Given the description of an element on the screen output the (x, y) to click on. 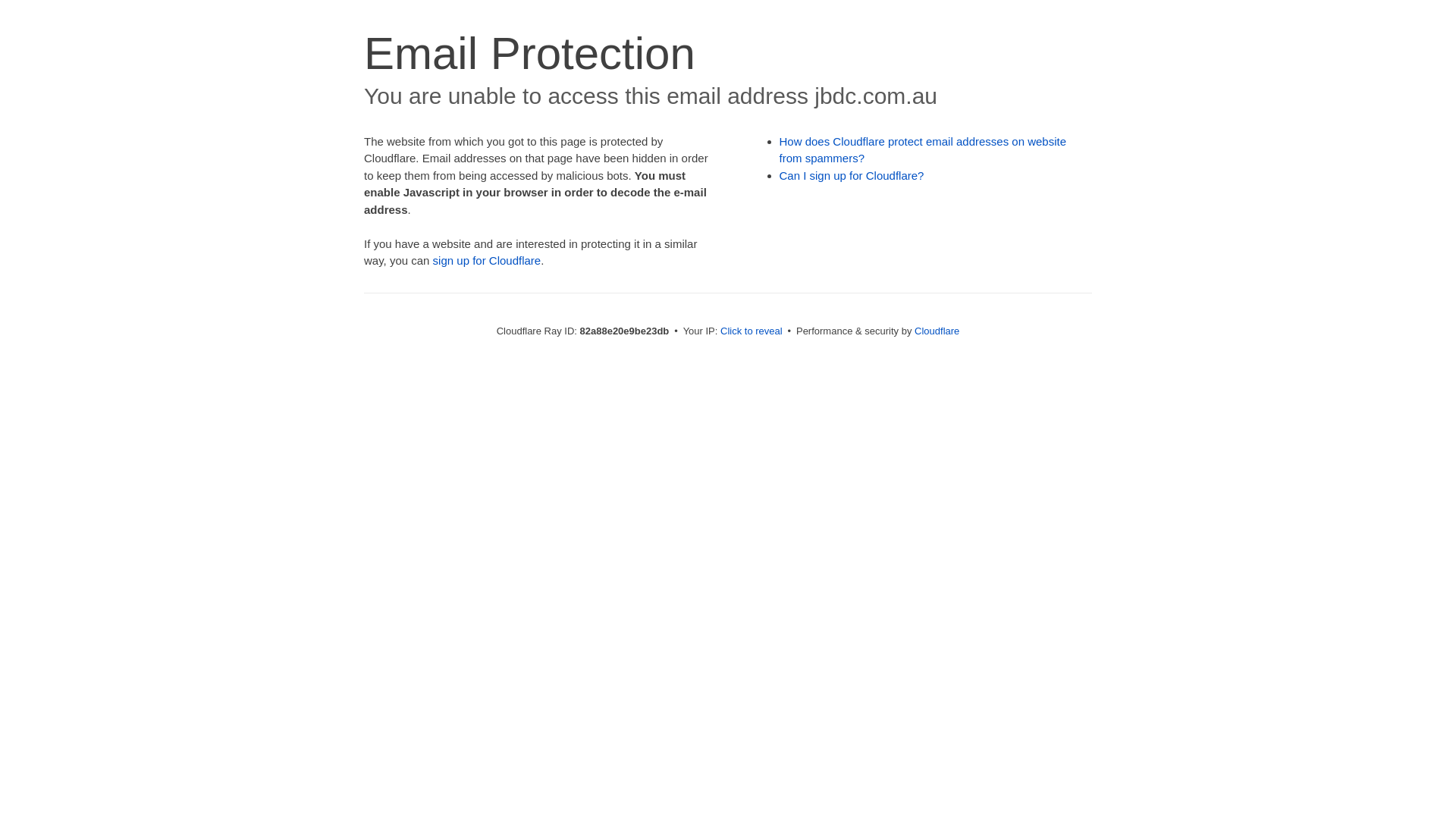
Cloudflare Element type: text (936, 330)
sign up for Cloudflare Element type: text (487, 260)
Click to reveal Element type: text (751, 330)
Can I sign up for Cloudflare? Element type: text (851, 175)
